Given the description of an element on the screen output the (x, y) to click on. 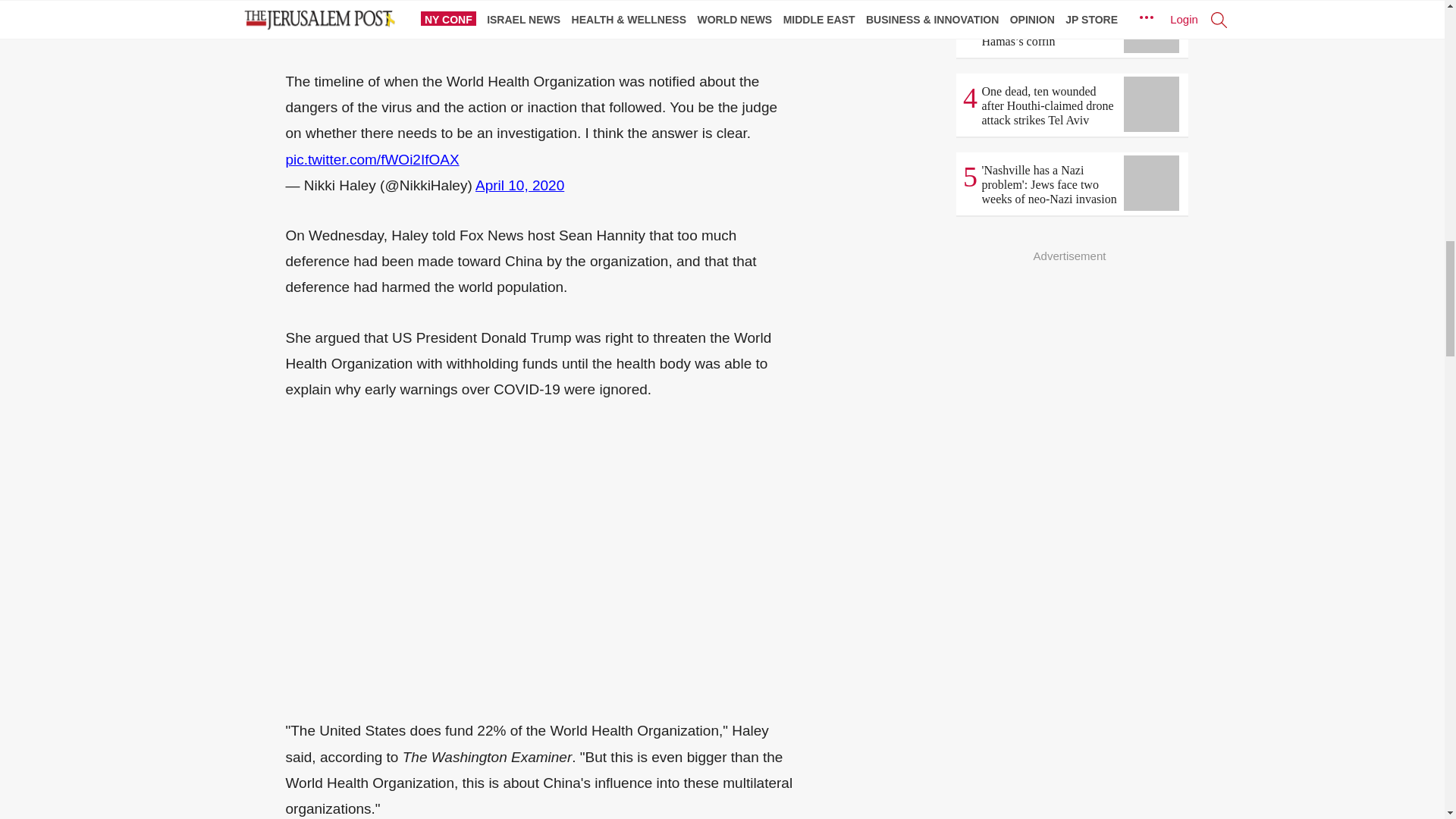
April 10, 2020 (520, 185)
